Given the description of an element on the screen output the (x, y) to click on. 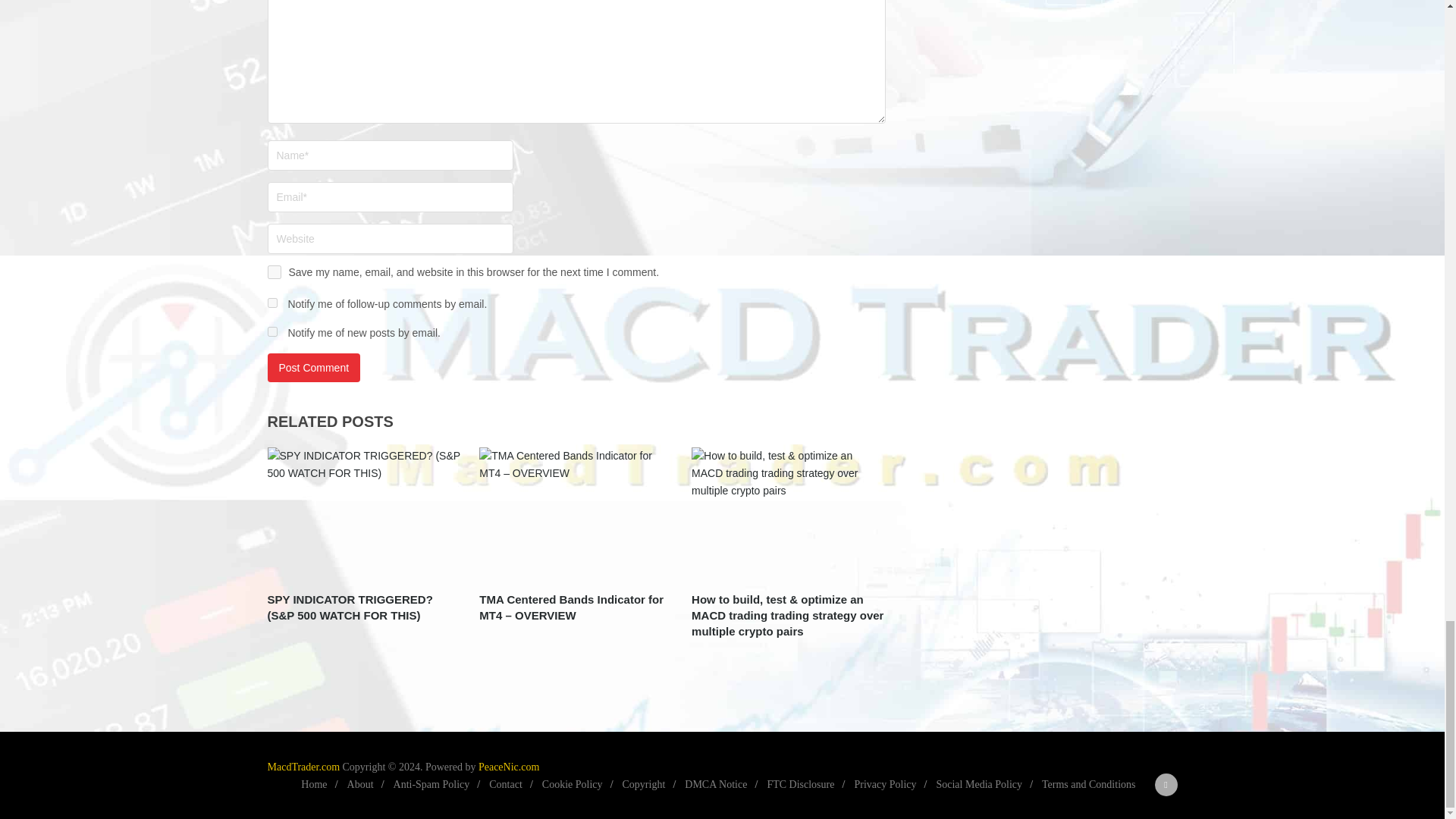
subscribe (271, 331)
yes (273, 272)
subscribe (271, 302)
Post Comment (312, 367)
Post Comment (312, 367)
